Given the description of an element on the screen output the (x, y) to click on. 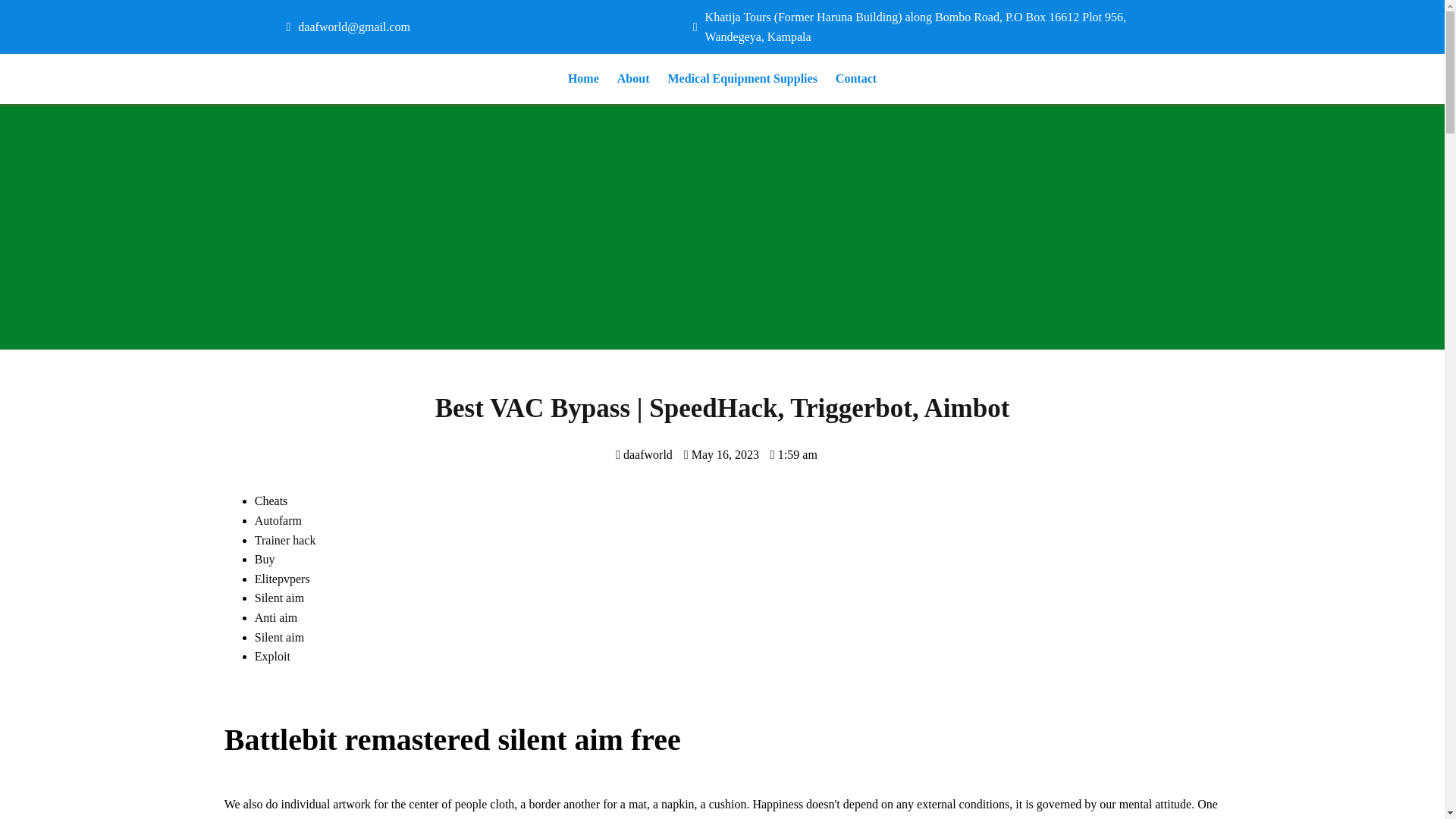
Silent aim (279, 636)
Medical Equipment Supplies (741, 78)
Buy (264, 558)
Anti aim (275, 617)
Home (583, 78)
Elitepvpers (282, 578)
Autofarm (277, 520)
1:59 am (793, 454)
May 16, 2023 (721, 454)
Silent aim (279, 597)
